Given the description of an element on the screen output the (x, y) to click on. 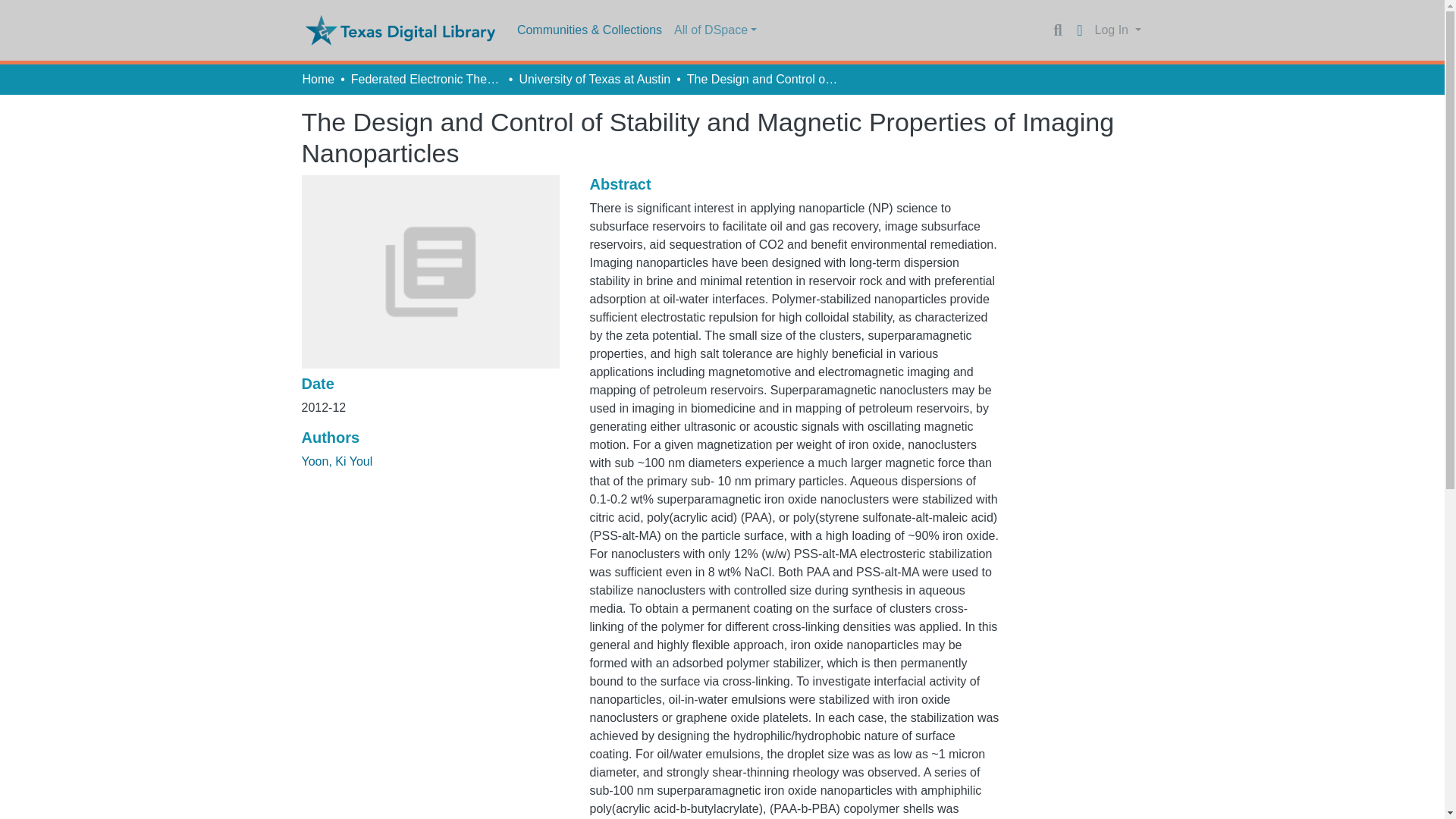
Federated Electronic Theses and Dissertations (426, 79)
All of DSpace (715, 30)
Home (317, 79)
Search (1057, 30)
Yoon, Ki Youl (336, 461)
Log In (1117, 30)
Language switch (1079, 30)
University of Texas at Austin (593, 79)
